Given the description of an element on the screen output the (x, y) to click on. 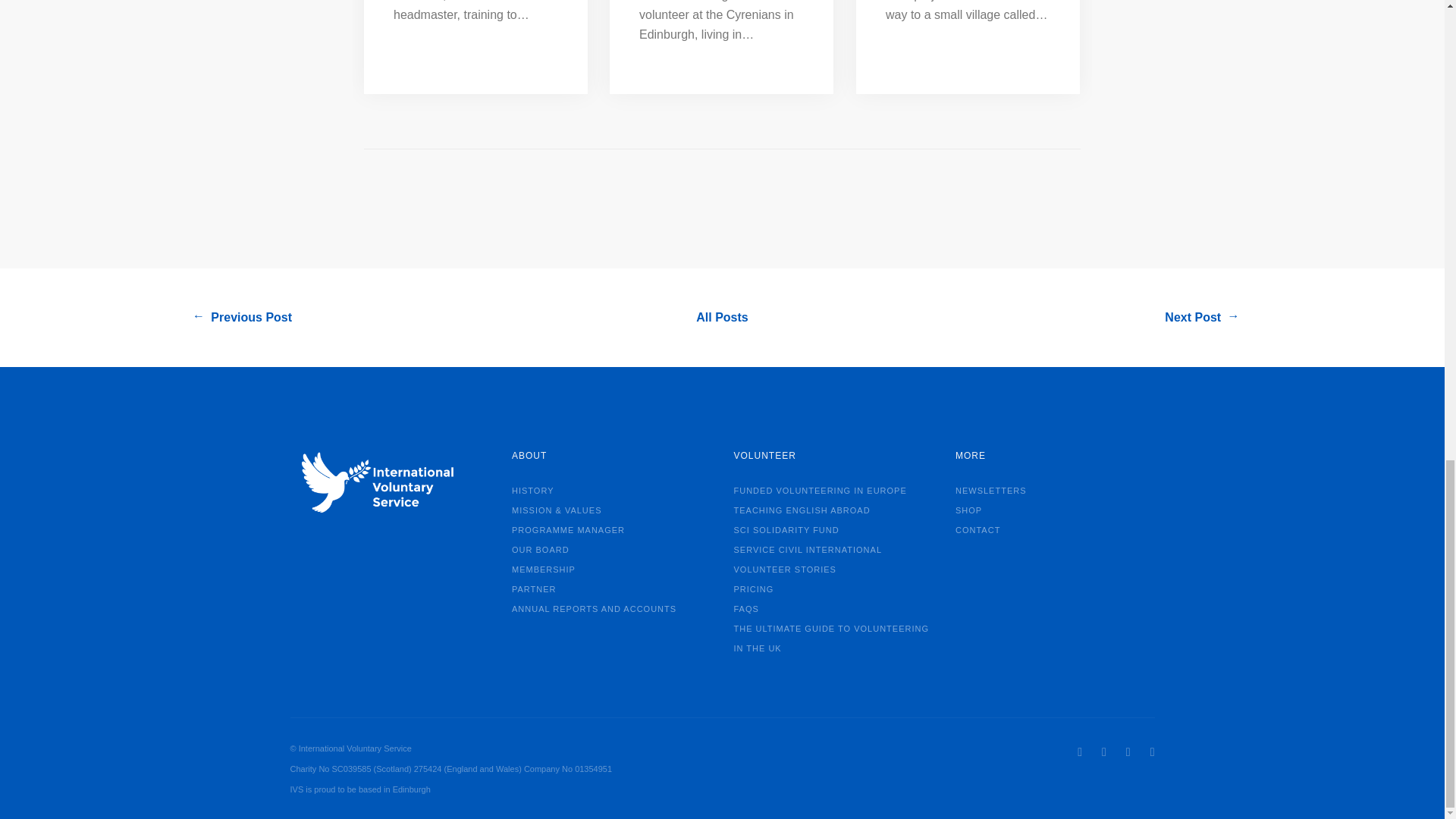
All Posts (721, 317)
HISTORY (538, 489)
